Given the description of an element on the screen output the (x, y) to click on. 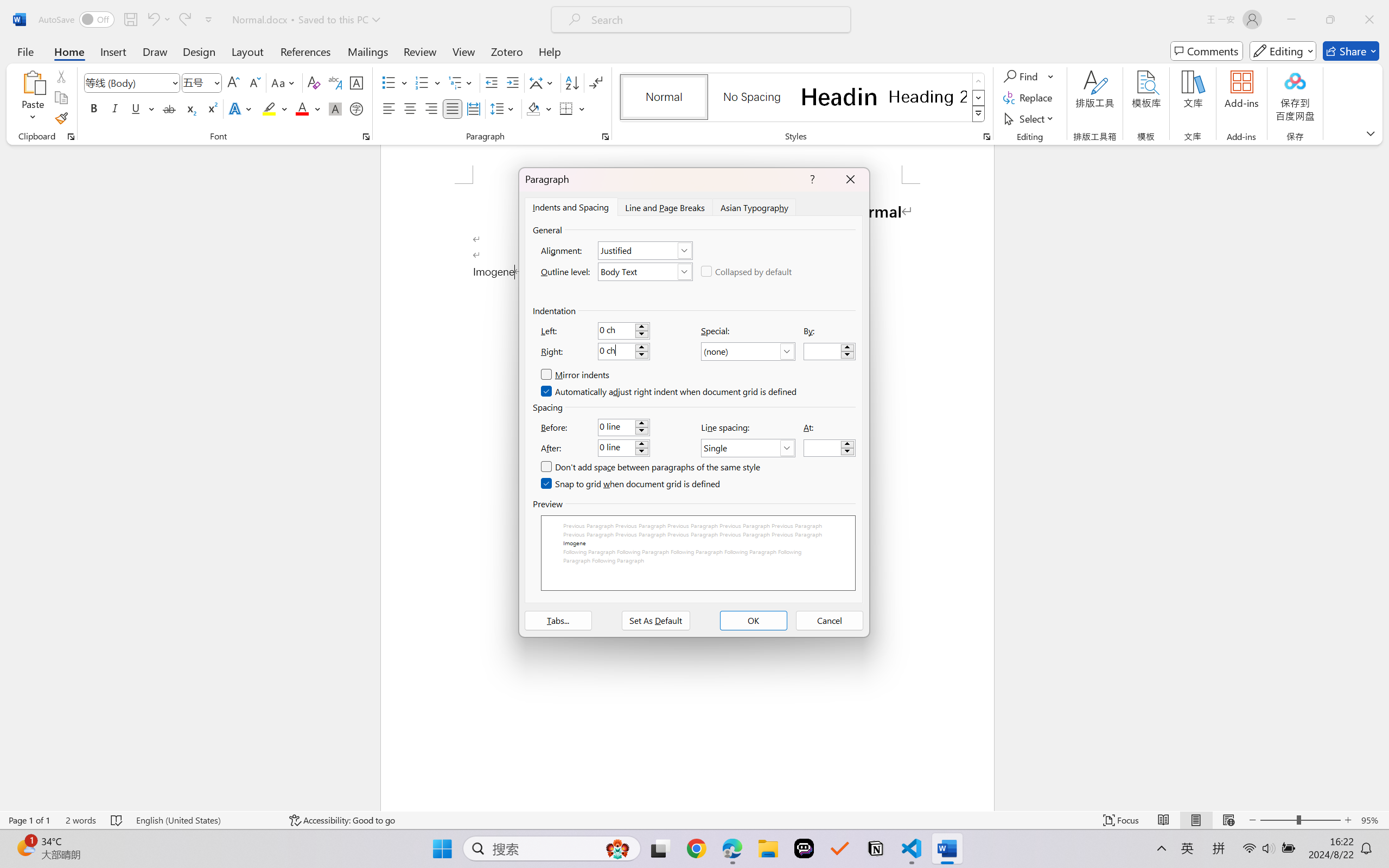
Line and Paragraph Spacing (503, 108)
Increase Indent (512, 82)
Mirror indents (575, 374)
Undo Typing (152, 19)
Styles... (986, 136)
Poe (804, 848)
